Given the description of an element on the screen output the (x, y) to click on. 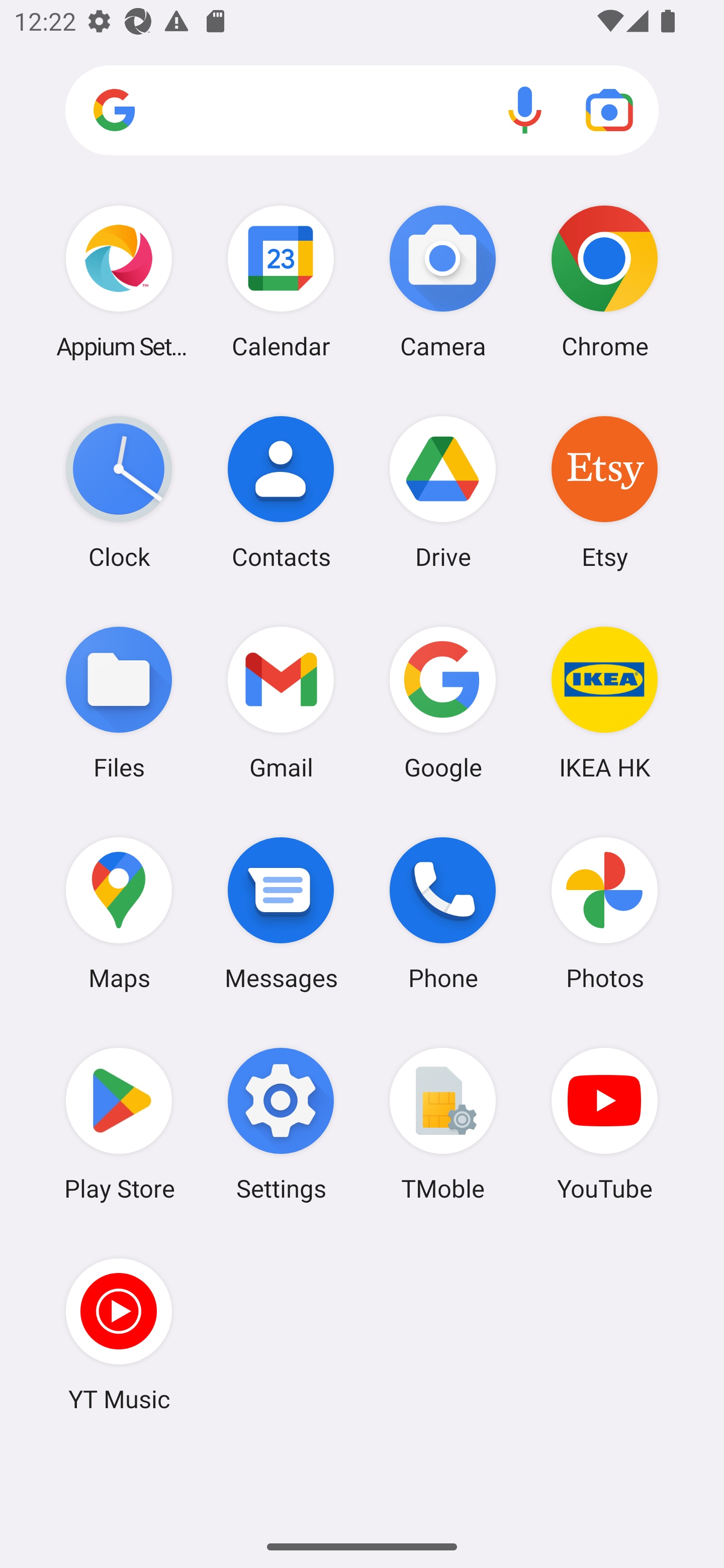
Search apps, web and more (361, 110)
Voice search (524, 109)
Google Lens (608, 109)
Appium Settings (118, 281)
Calendar (280, 281)
Camera (443, 281)
Chrome (604, 281)
Clock (118, 492)
Contacts (280, 492)
Drive (443, 492)
Etsy (604, 492)
Files (118, 702)
Gmail (280, 702)
Google (443, 702)
IKEA HK (604, 702)
Maps (118, 913)
Messages (280, 913)
Phone (443, 913)
Photos (604, 913)
Play Store (118, 1124)
Settings (280, 1124)
TMoble (443, 1124)
YouTube (604, 1124)
YT Music (118, 1334)
